Given the description of an element on the screen output the (x, y) to click on. 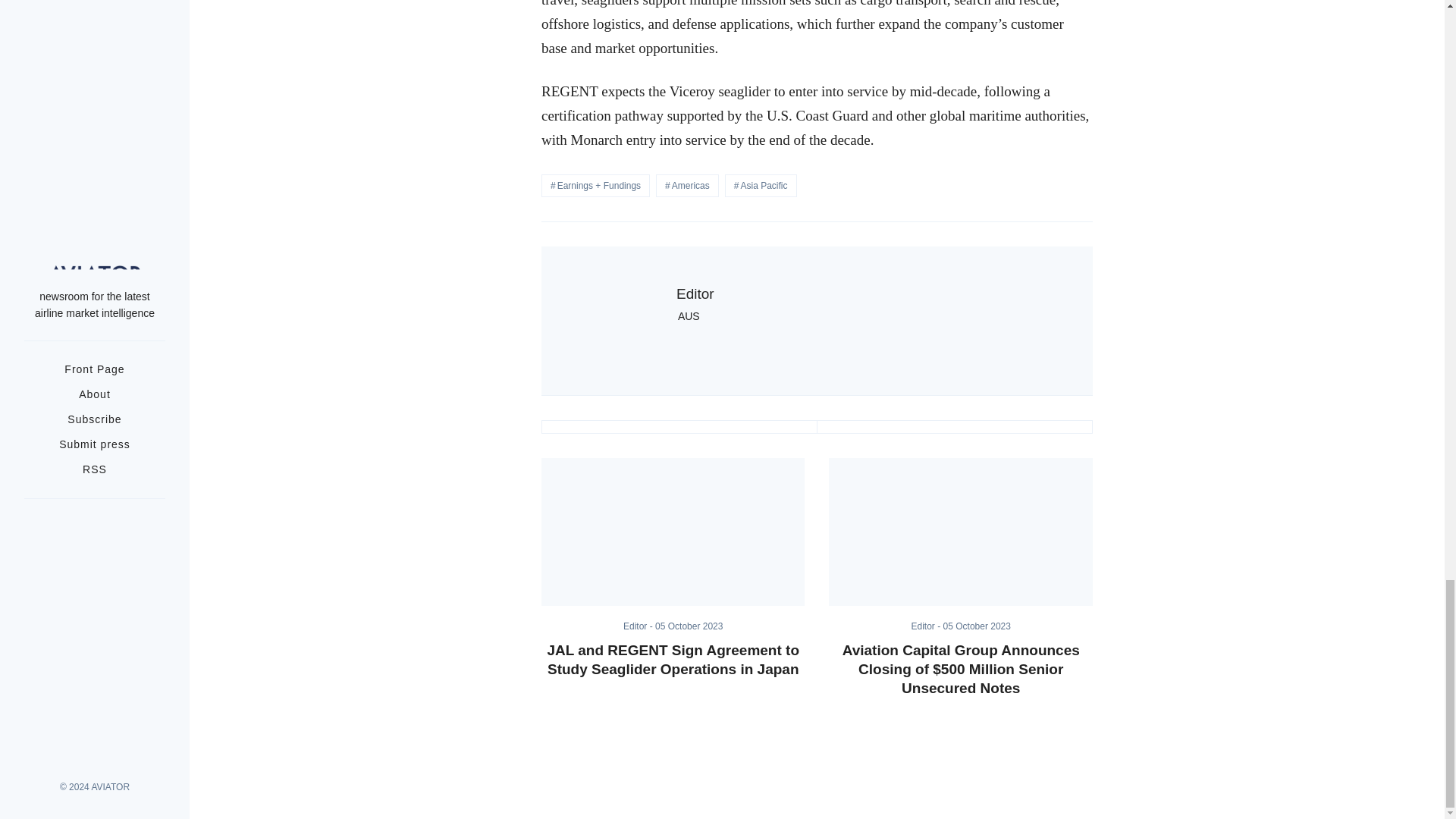
Editor (927, 625)
Editor - (927, 625)
Share on Twitter (678, 426)
Asia Pacific (760, 185)
Americas (687, 185)
Editor (639, 625)
Editor - (639, 625)
Editor (695, 293)
Share on Facebook (954, 426)
